Given the description of an element on the screen output the (x, y) to click on. 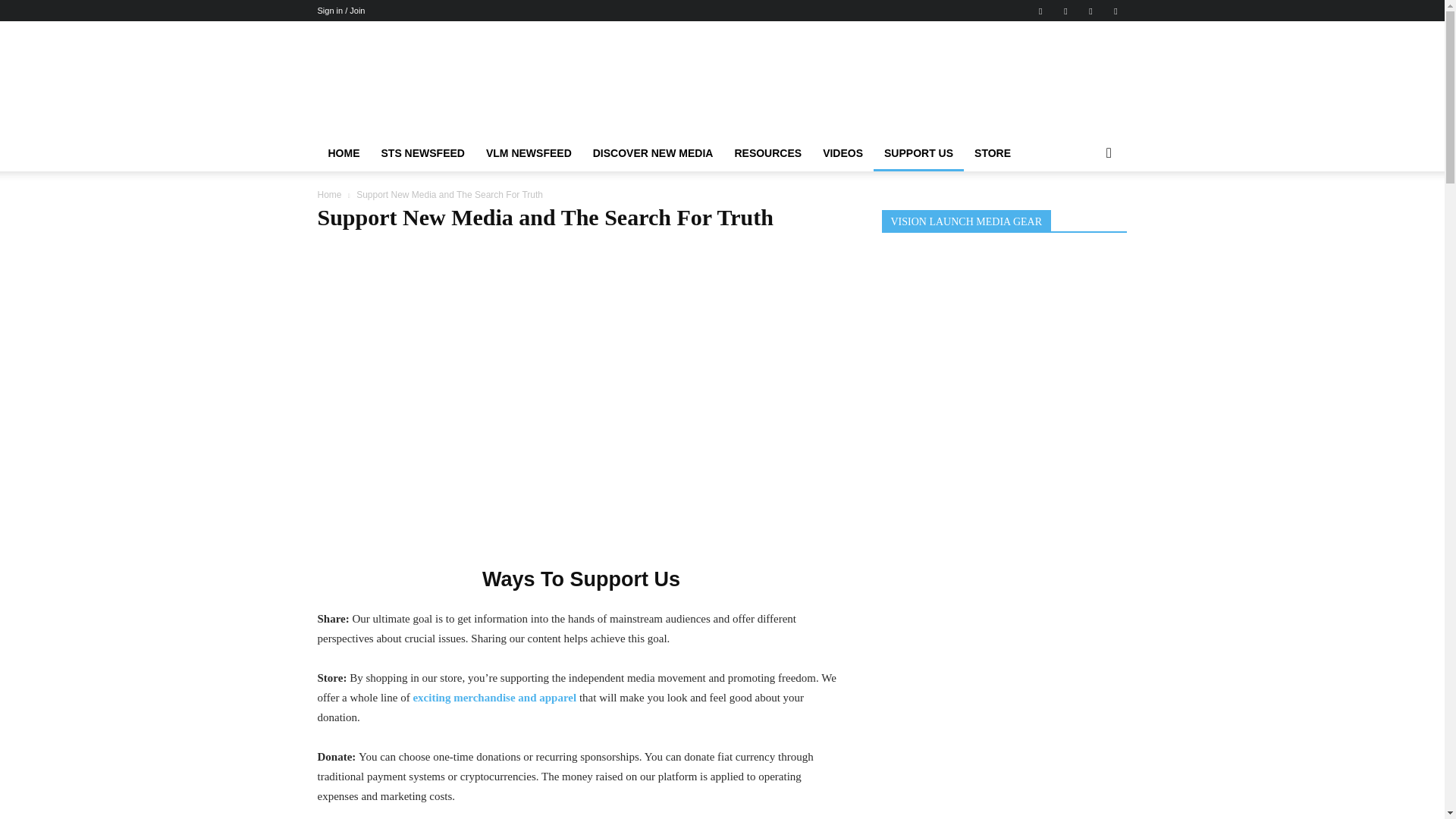
Facebook (1040, 10)
Linkedin (1065, 10)
RSS (1090, 10)
Twitter (1114, 10)
